Given the description of an element on the screen output the (x, y) to click on. 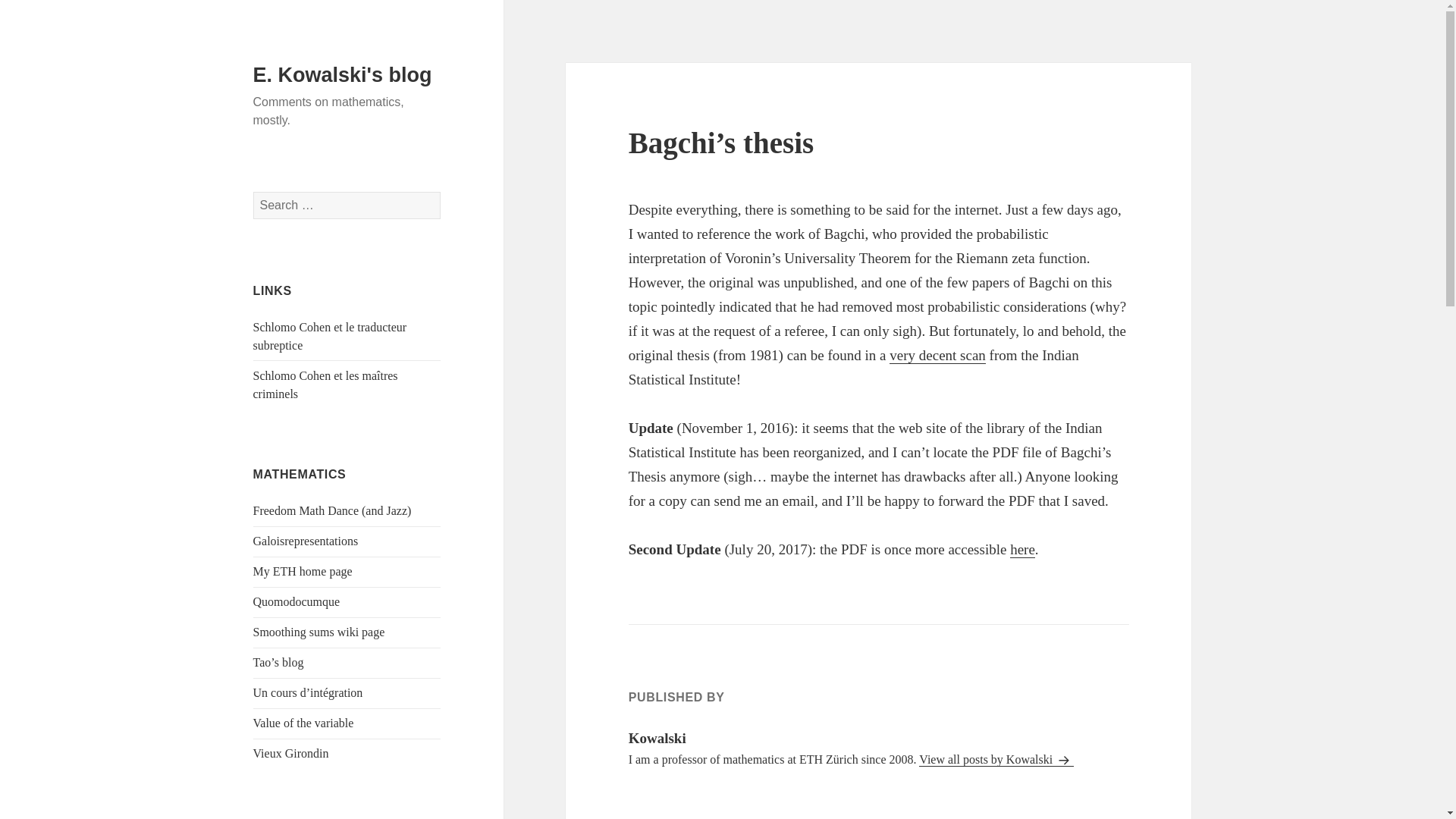
Schlomo Cohen et le traducteur subreptice (330, 336)
A course in integration, in French. (307, 692)
Value of the variable (303, 722)
Galoisrepresentations (305, 540)
E. Kowalski's blog (342, 74)
Vieux Girondin (291, 753)
Home page. (302, 571)
here (1022, 549)
Smoothing sums wiki page (319, 631)
Quomodocumque (296, 601)
